Given the description of an element on the screen output the (x, y) to click on. 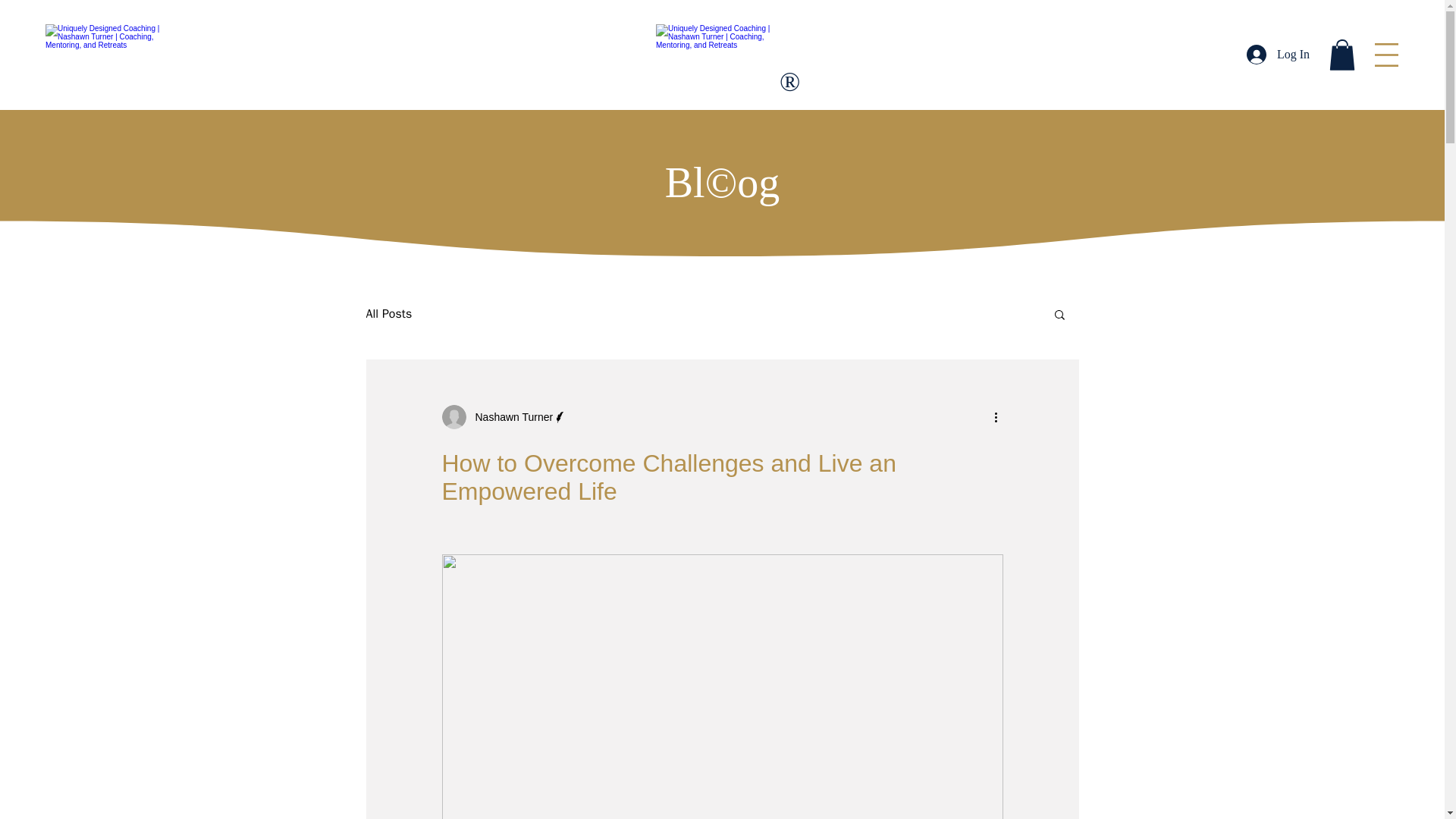
Nashawn Turner (504, 416)
Nashawn Turner (509, 417)
Log In (1278, 54)
All Posts (388, 314)
Uniquely Designed Coaching (722, 54)
Uniquely Designed Coaching (106, 54)
